Given the description of an element on the screen output the (x, y) to click on. 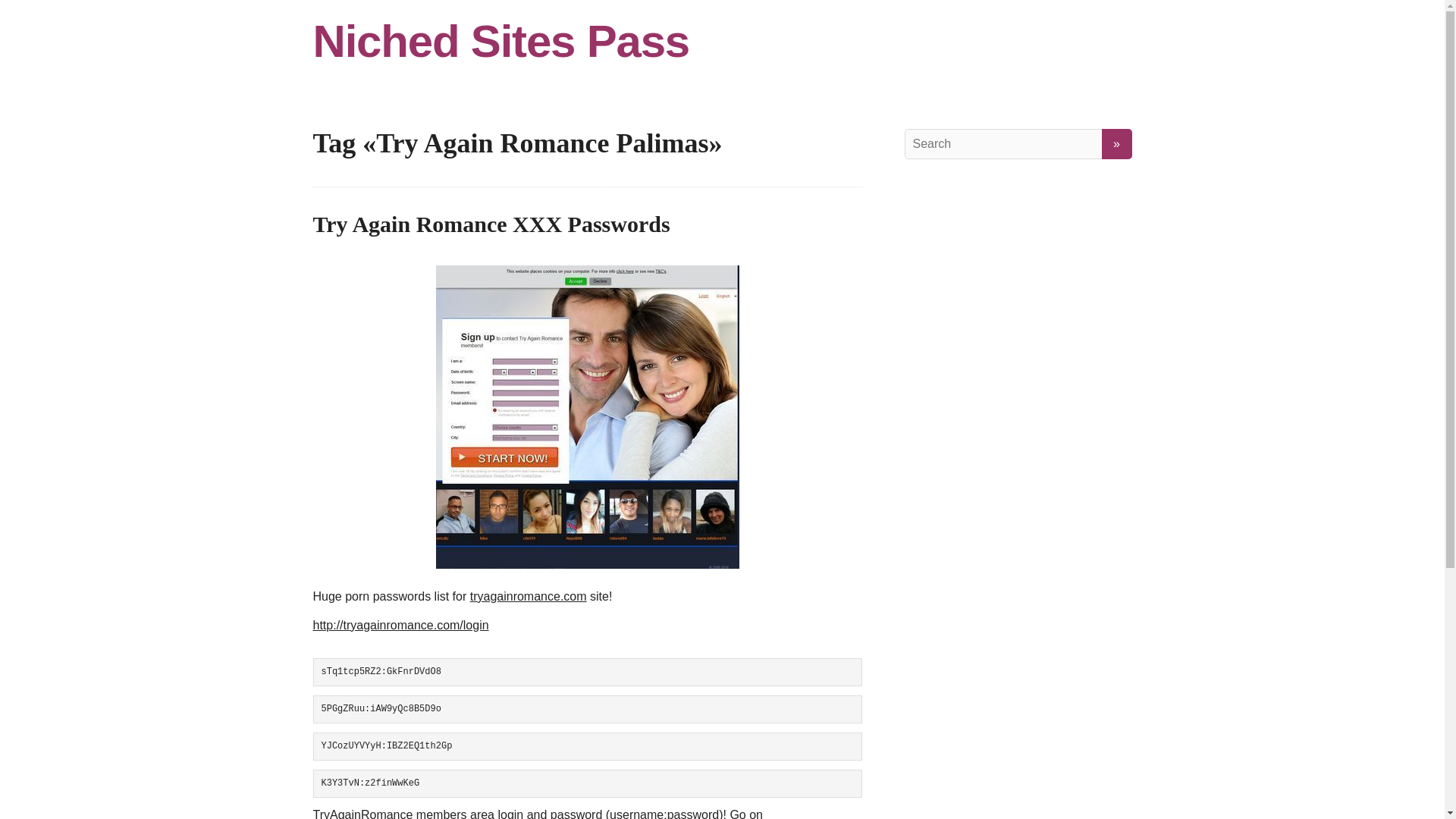
Try Again Romance XXX Passwords (491, 223)
Try Again Romance XXX Passwords (491, 223)
tryagainromance.com (528, 595)
Niched Sites Pass (722, 41)
Niched Sites Pass (722, 41)
Try Again Romance (587, 416)
